Given the description of an element on the screen output the (x, y) to click on. 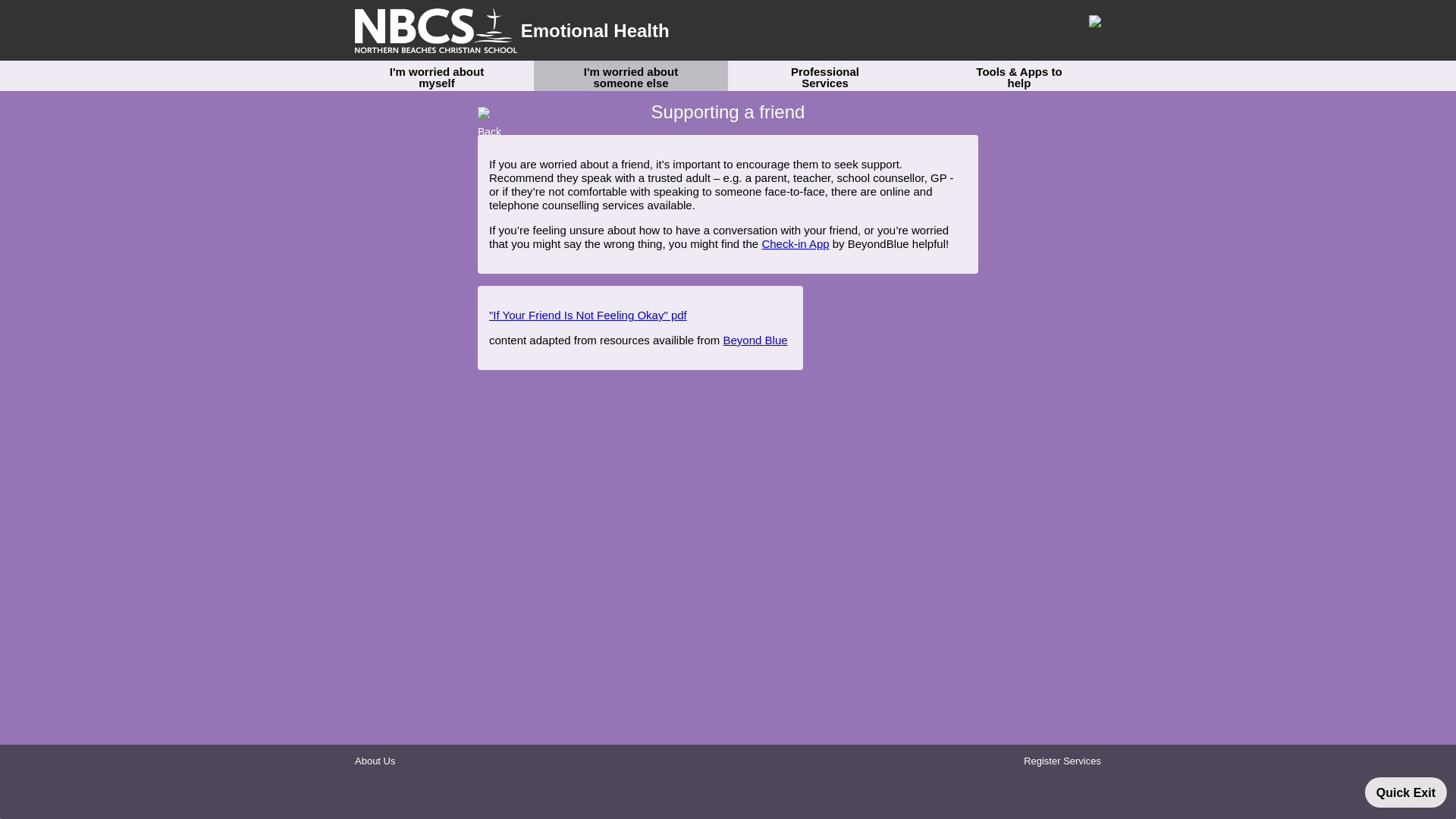
Quick Exit (1406, 792)
Emotional Health (512, 30)
"If Your Friend Is Not Feeling Okay" pdf (588, 314)
I'm worried about myself (436, 74)
About Us (374, 760)
Professional Services (824, 74)
Register Services (1061, 760)
I'm worried about someone else (631, 74)
Check-in App (794, 242)
Back (496, 112)
Beyond Blue (755, 339)
